Given the description of an element on the screen output the (x, y) to click on. 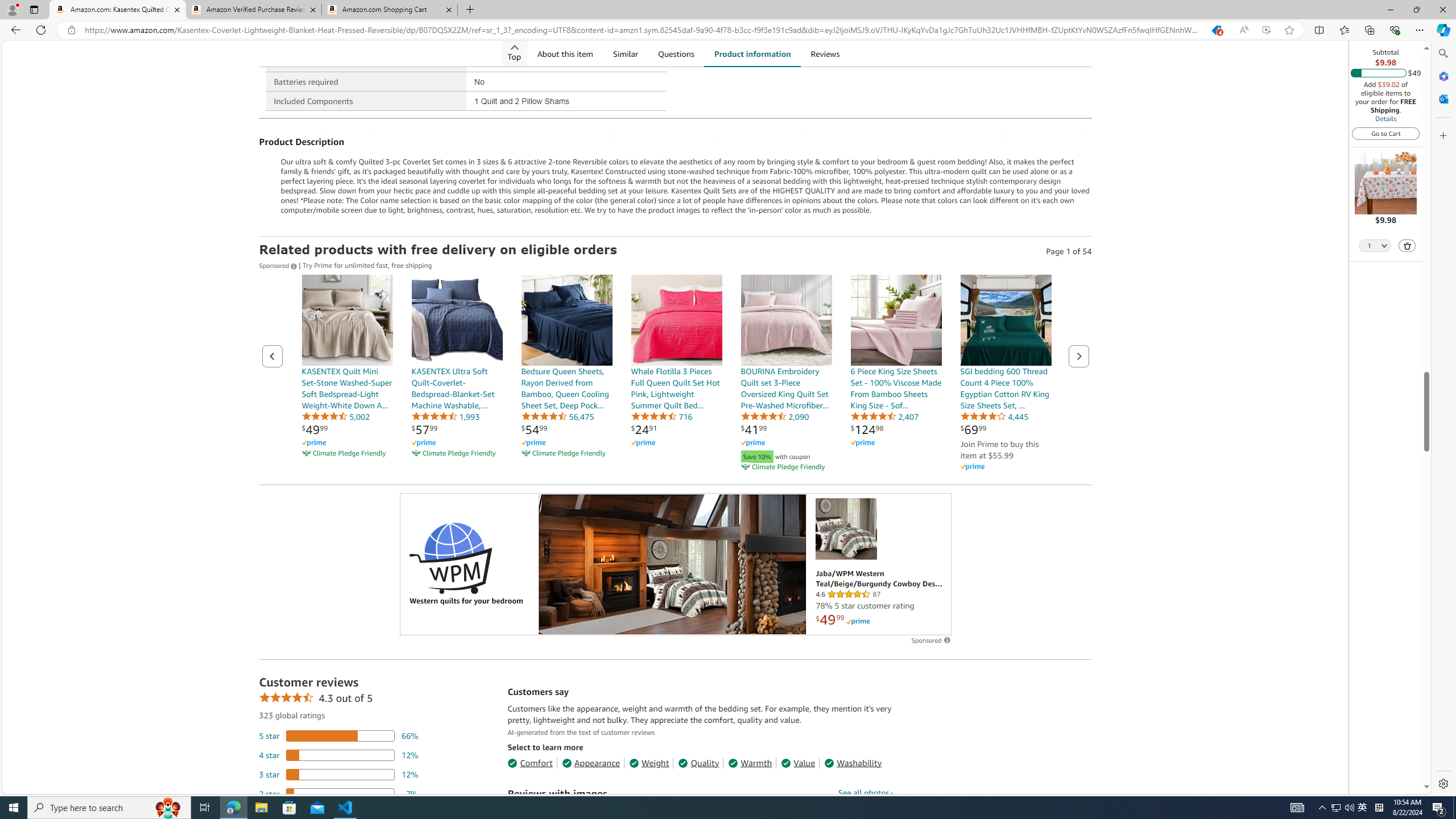
$57.99 (424, 429)
Washability (853, 762)
2,407$124.98 (896, 373)
Value (797, 762)
4,445$69.99Join Prime to buy this item at $55.99 (1005, 373)
About this item (564, 53)
Logo (450, 557)
2,090 (775, 416)
